Given the description of an element on the screen output the (x, y) to click on. 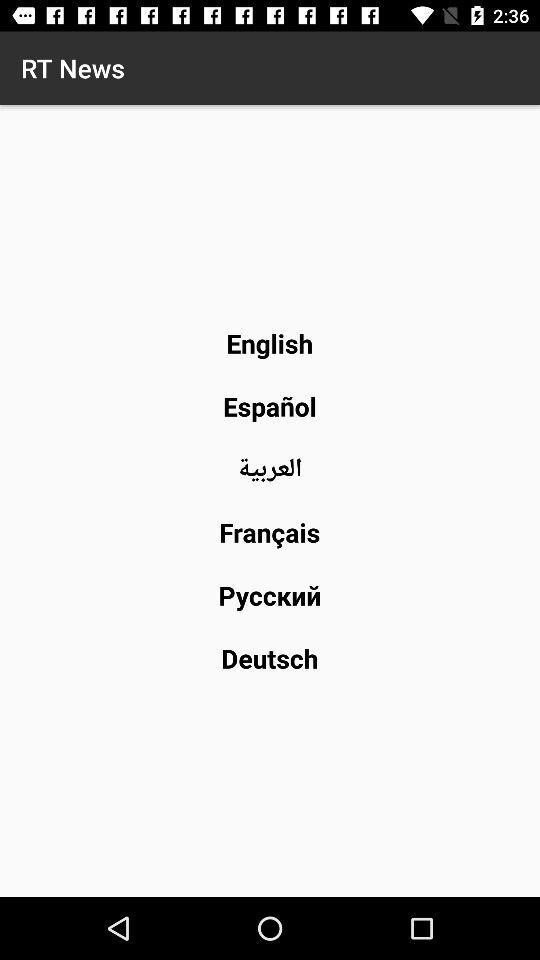
tap english (269, 343)
